Given the description of an element on the screen output the (x, y) to click on. 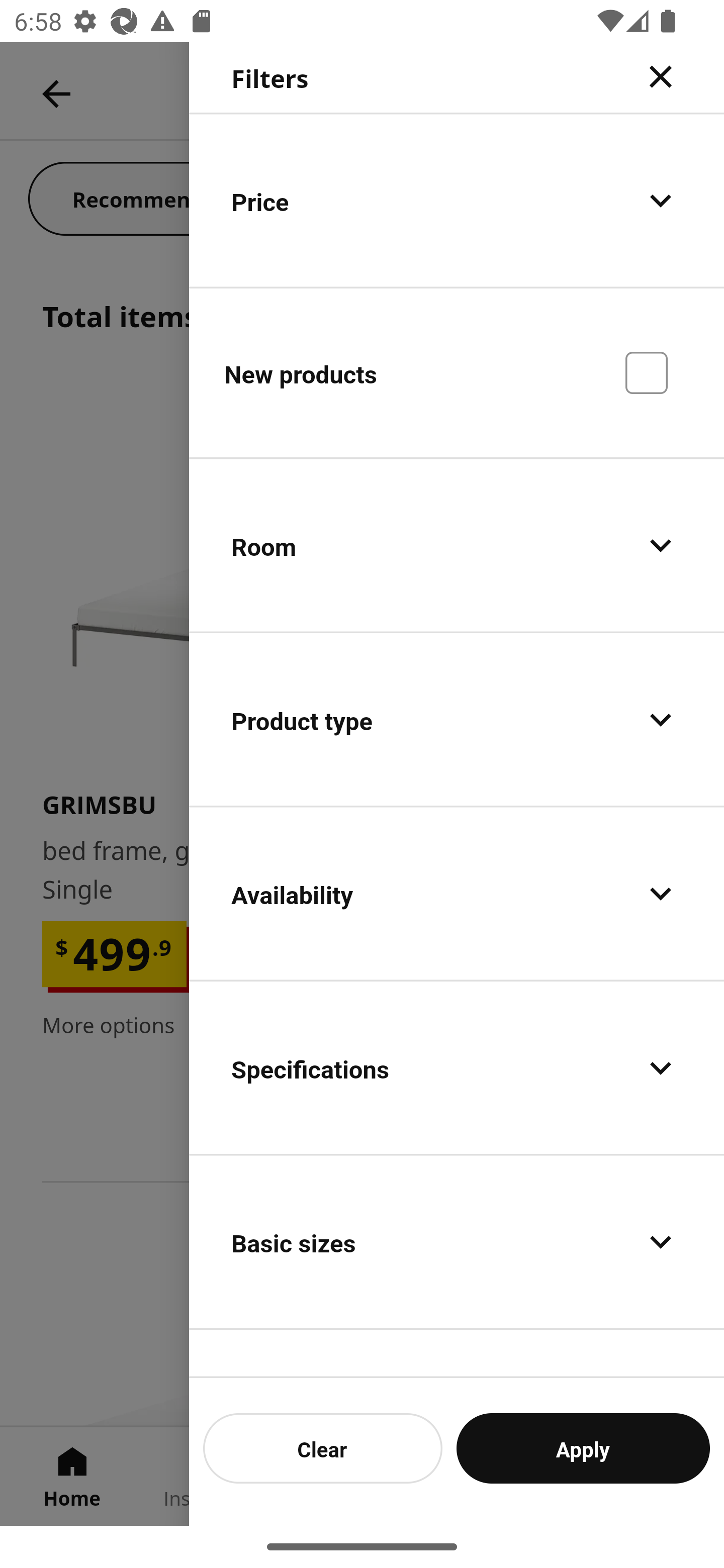
Price (456, 200)
New products (456, 371)
Room (456, 545)
Product type (456, 719)
Availability (456, 893)
Specifications (456, 1067)
Basic sizes (456, 1241)
Clear (322, 1447)
Apply (583, 1447)
